Given the description of an element on the screen output the (x, y) to click on. 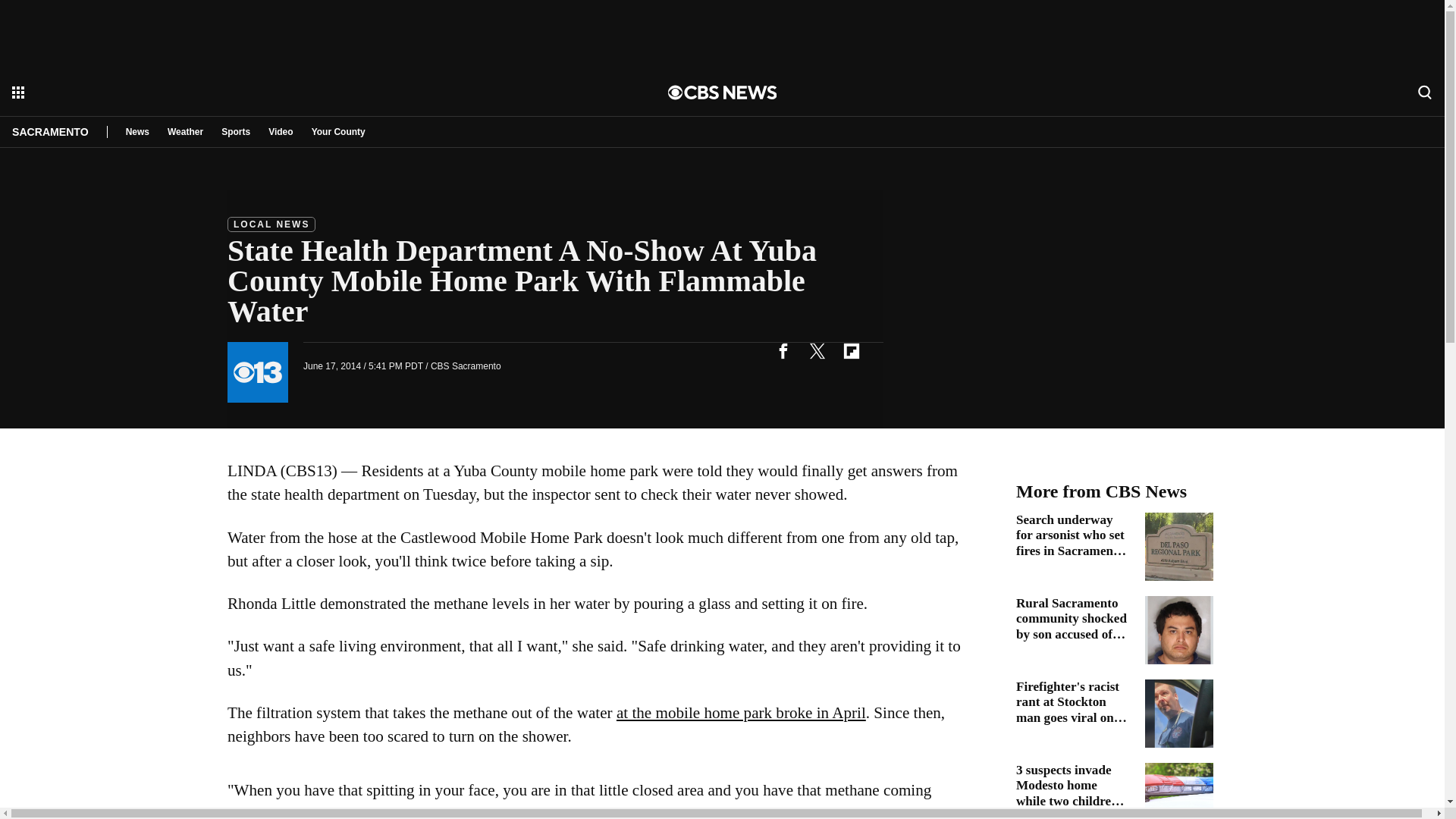
flipboard (850, 350)
twitter (816, 350)
facebook (782, 350)
